Given the description of an element on the screen output the (x, y) to click on. 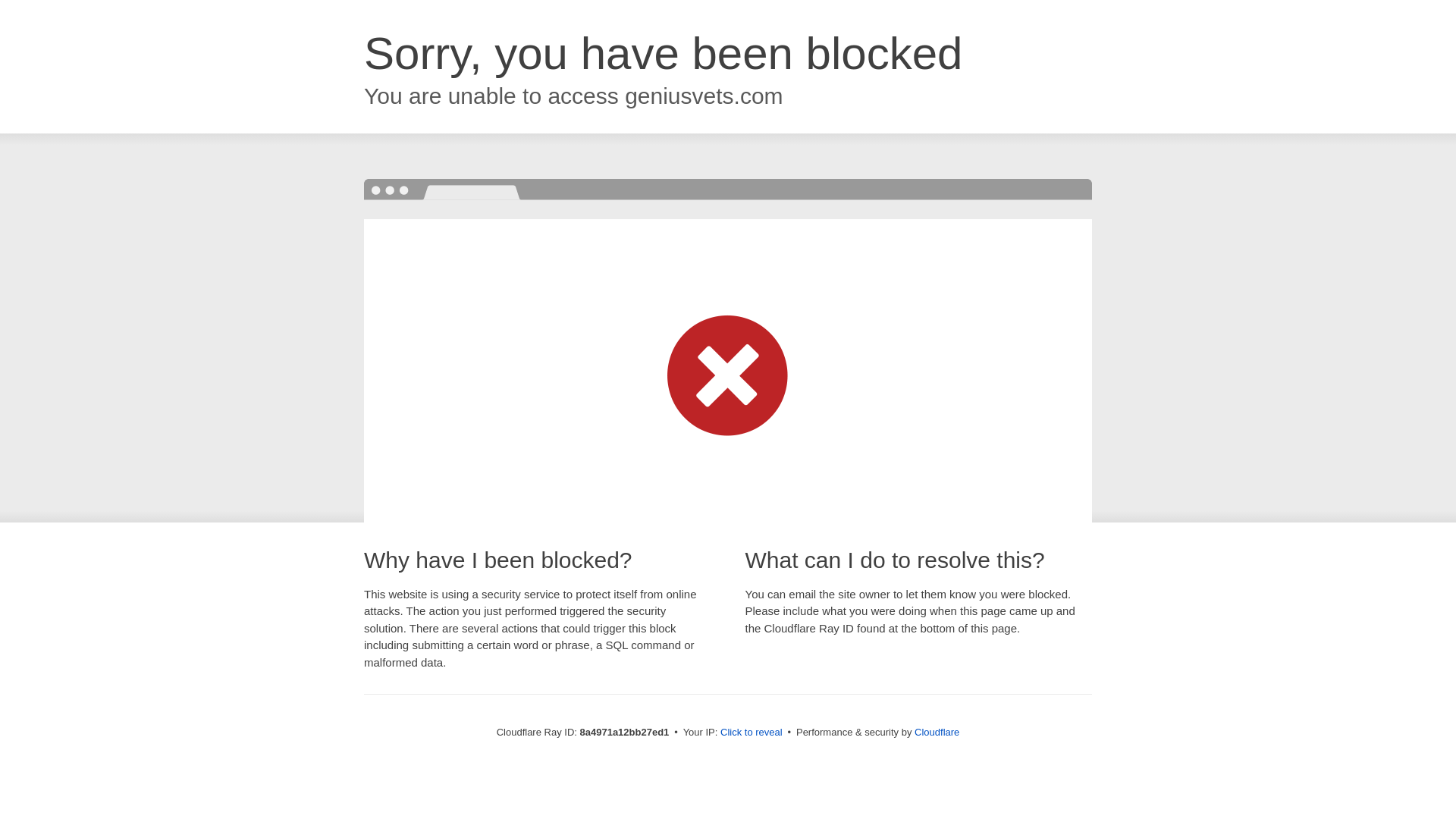
Click to reveal (751, 732)
Cloudflare (936, 731)
